Given the description of an element on the screen output the (x, y) to click on. 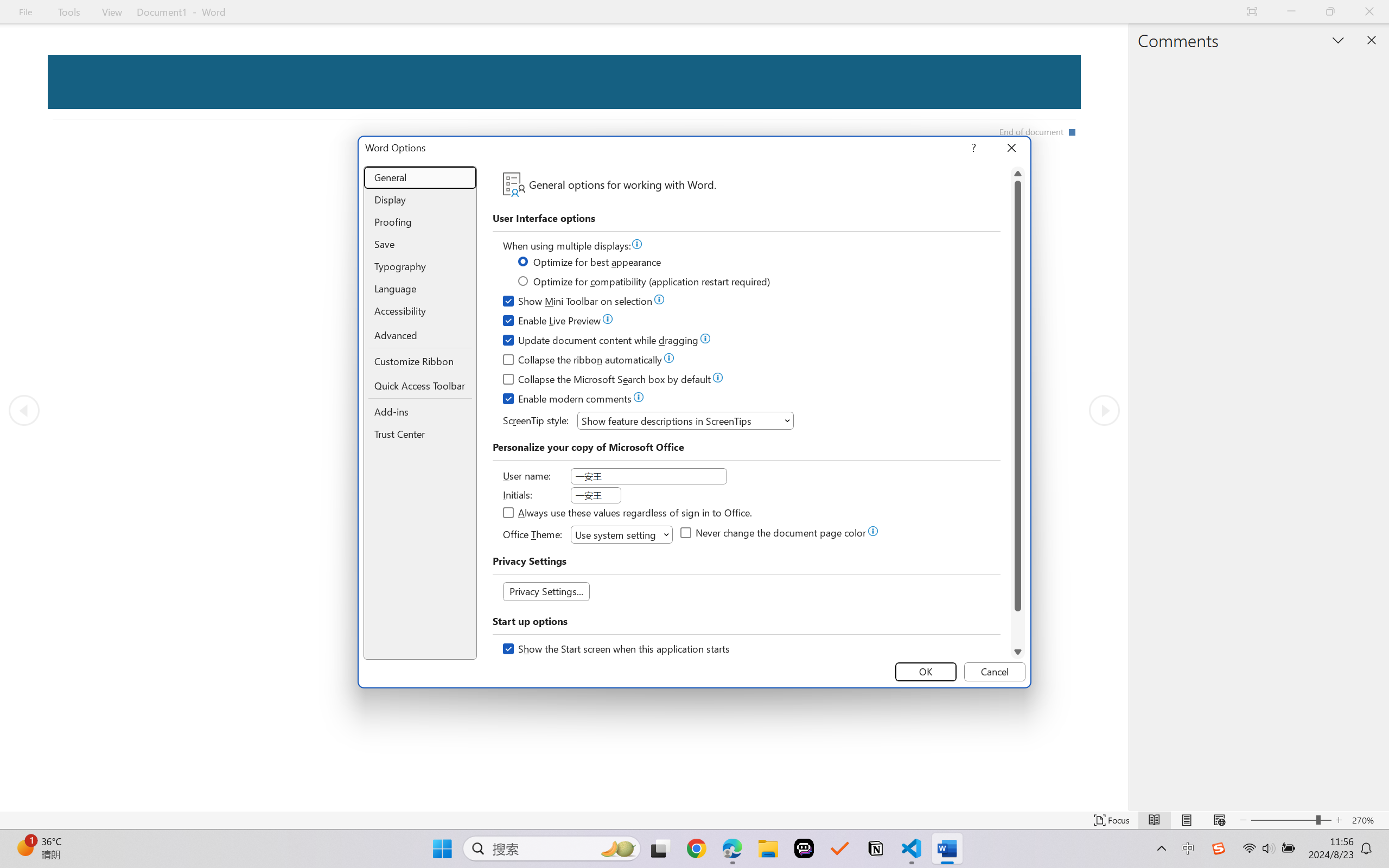
Data practices (356, 109)
Sign in - Google Accounts (845, 12)
Subscriptions - YouTube (756, 12)
In our products (250, 71)
